Given the description of an element on the screen output the (x, y) to click on. 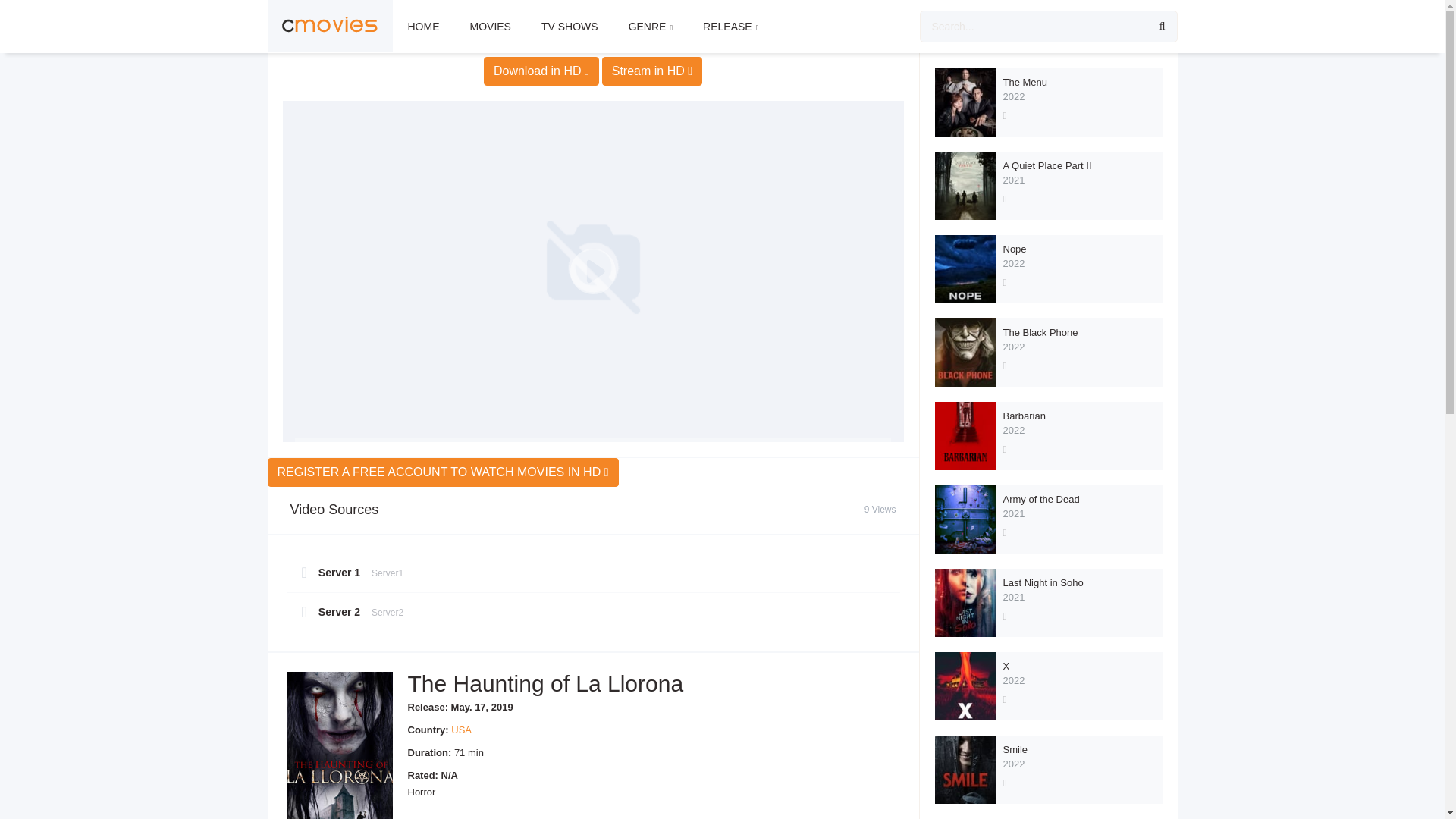
TV SHOWS (568, 26)
MOVIES (489, 26)
RELEASE (730, 26)
GENRE (649, 26)
HOME (423, 26)
